Given the description of an element on the screen output the (x, y) to click on. 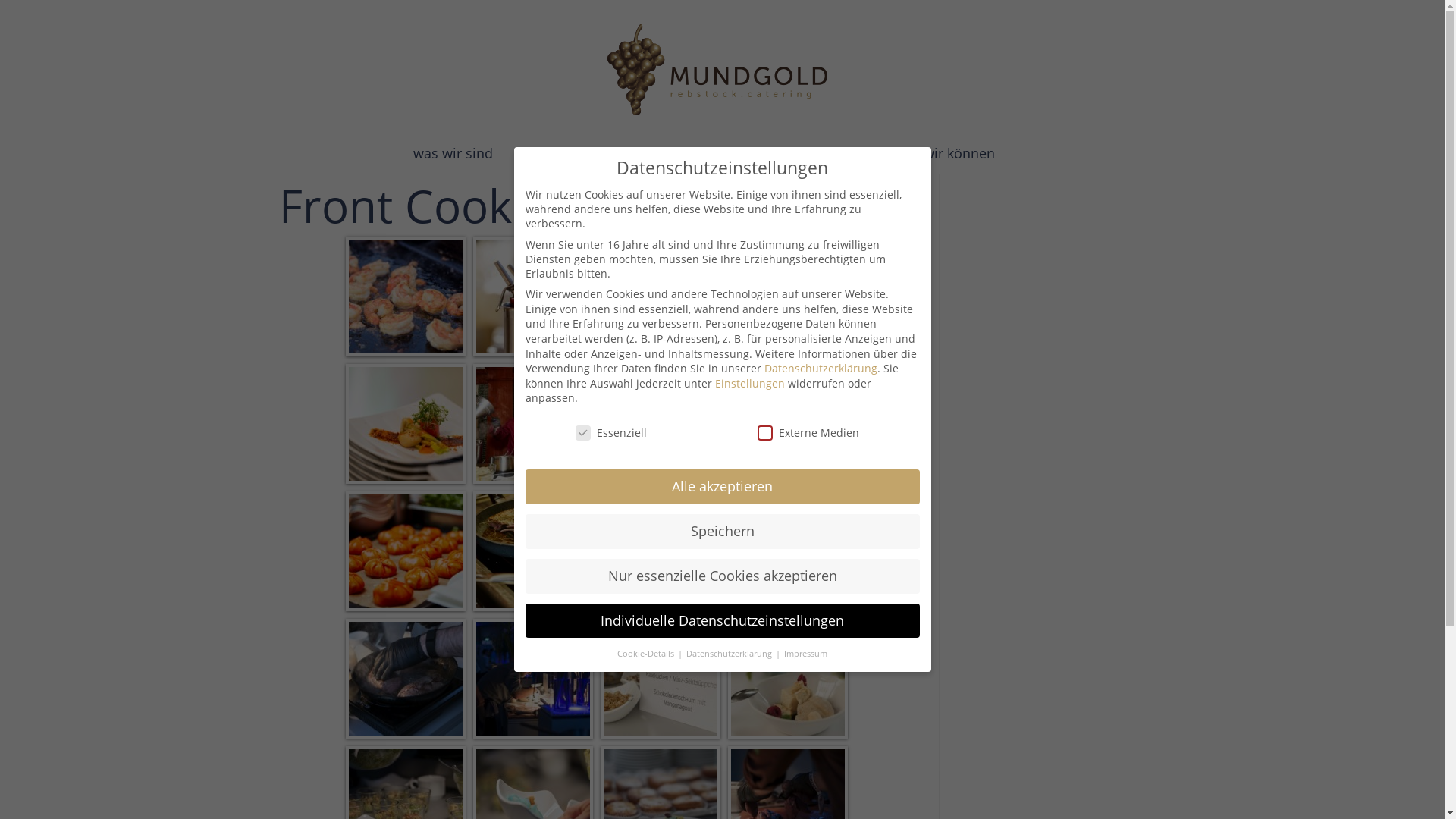
Individuelle Datenschutzeinstellungen Element type: text (721, 620)
Nur essenzielle Cookies akzeptieren Element type: text (721, 575)
Speichern Element type: text (721, 531)
Impressum Element type: text (805, 653)
Cookie-Details Element type: text (646, 653)
was wir sind Element type: text (452, 153)
Alle akzeptieren Element type: text (721, 486)
wer wir sind Element type: text (686, 153)
Einstellungen Element type: text (749, 383)
wo wir sind Element type: text (570, 153)
wie wir feiern Element type: text (810, 153)
